Given the description of an element on the screen output the (x, y) to click on. 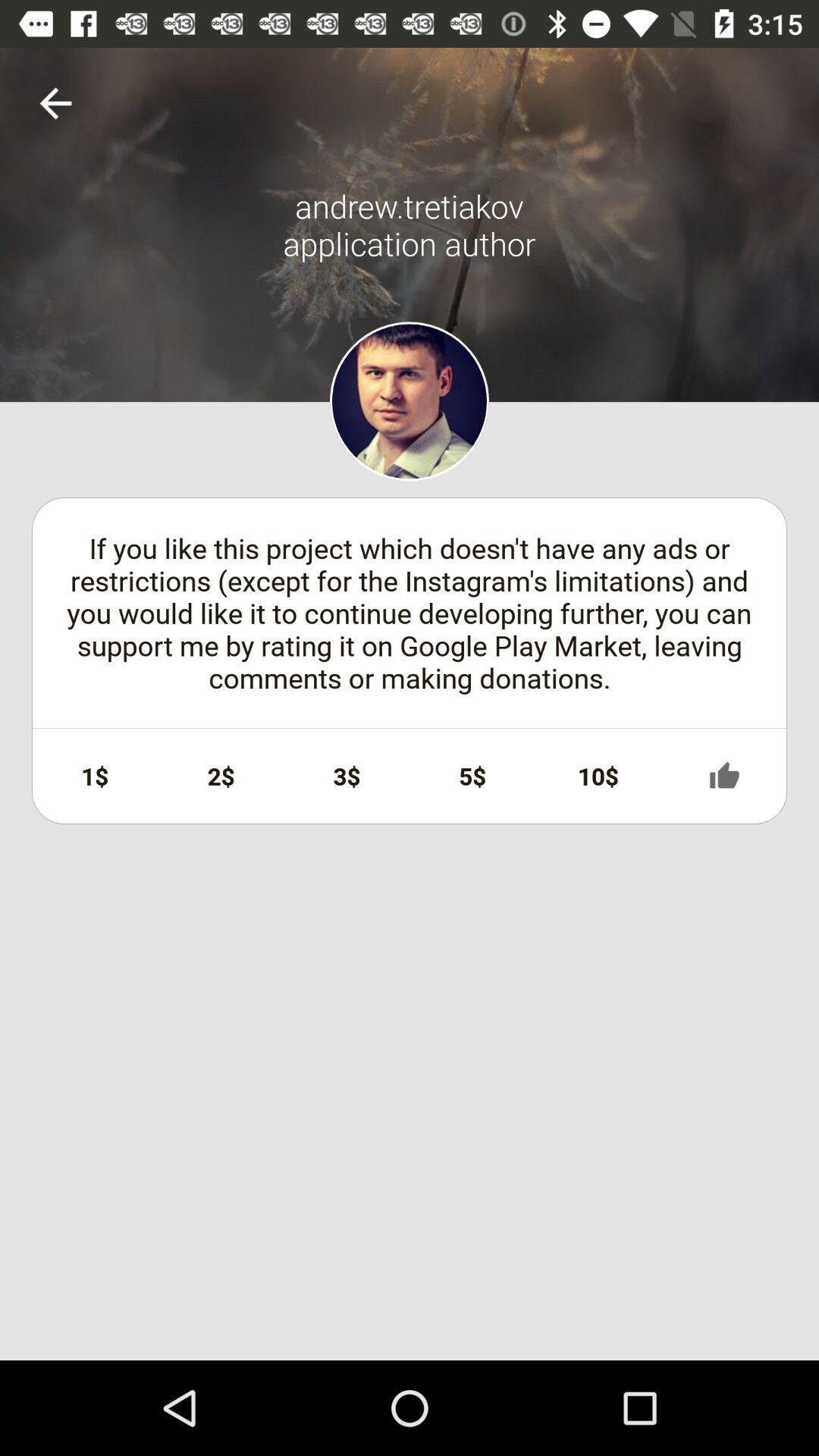
open the icon below the if you like (221, 776)
